Given the description of an element on the screen output the (x, y) to click on. 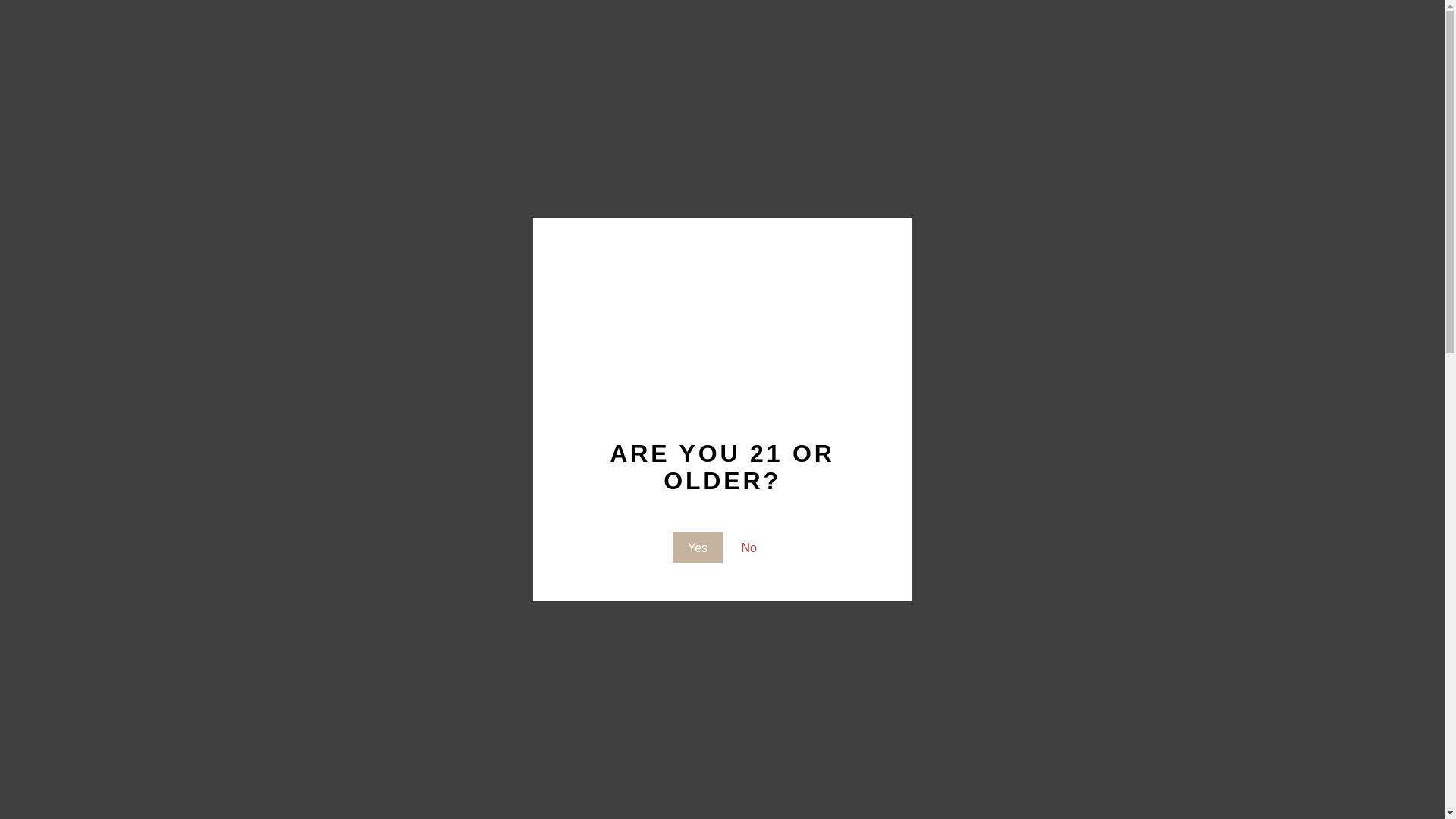
No (748, 548)
Yes (697, 548)
WINE (328, 75)
Search... (226, 22)
